Given the description of an element on the screen output the (x, y) to click on. 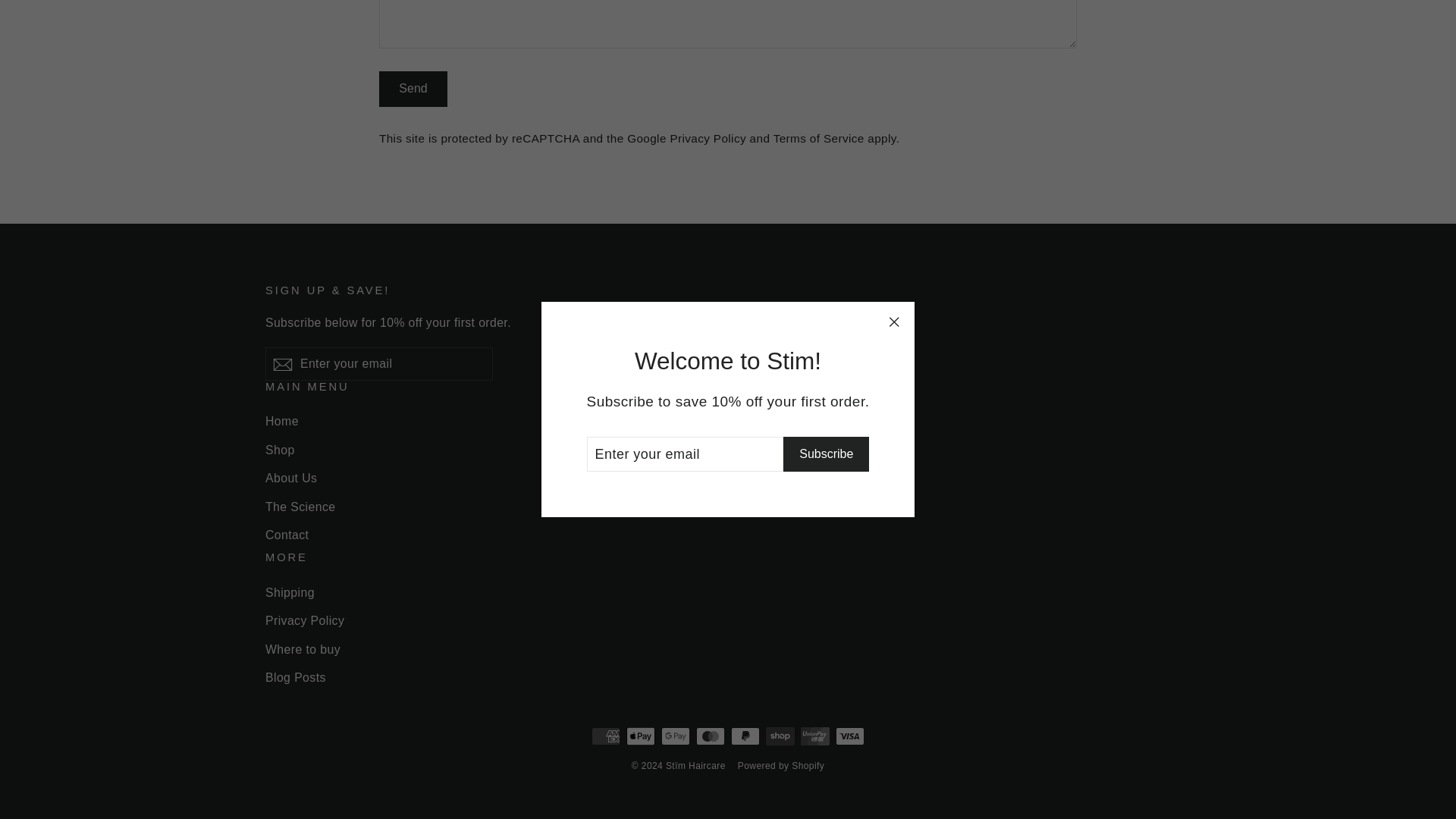
Google Pay (675, 736)
Mastercard (710, 736)
Shop Pay (779, 736)
Visa (849, 736)
PayPal (745, 736)
Apple Pay (640, 736)
Union Pay (814, 736)
American Express (605, 736)
